Given the description of an element on the screen output the (x, y) to click on. 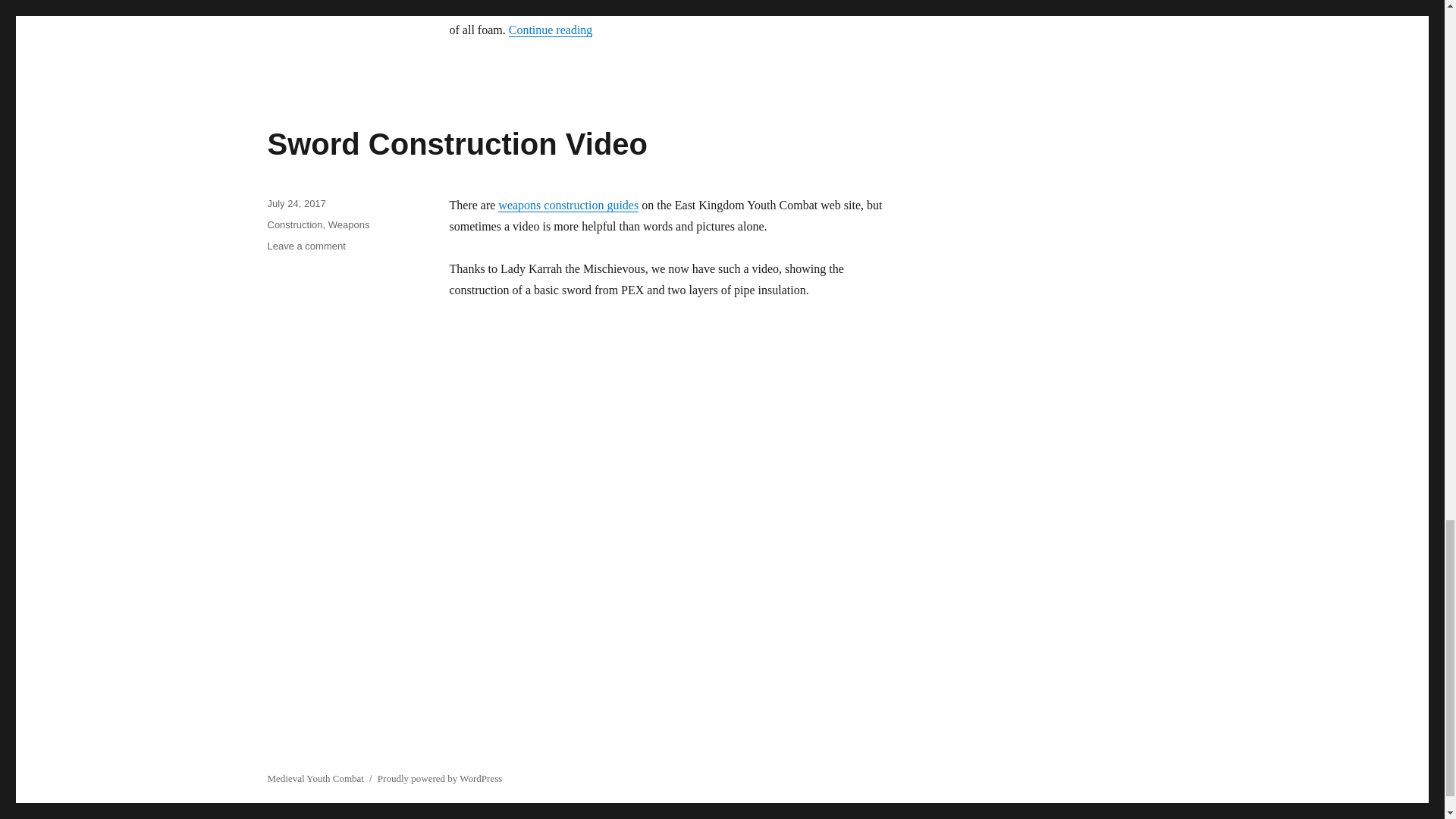
Weapons (349, 224)
Sword Construction Video (456, 143)
Construction (305, 245)
July 24, 2017 (293, 224)
weapons construction guides (295, 203)
